Given the description of an element on the screen output the (x, y) to click on. 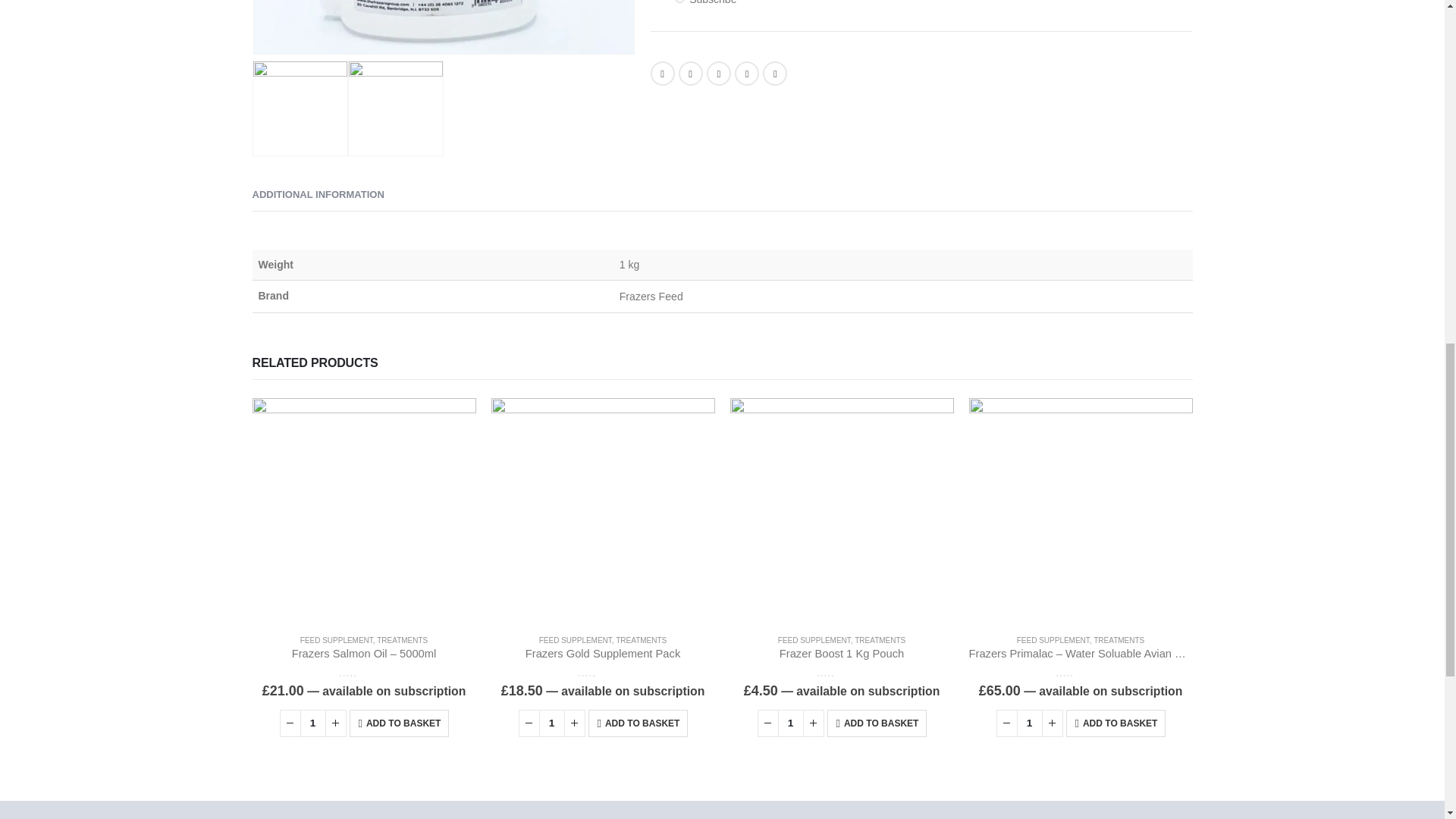
1 (551, 723)
Twitter (690, 73)
Twitter (690, 73)
1 (1029, 723)
LinkedIn (718, 73)
1 (790, 723)
Glycoboost-1.jpg (443, 27)
Facebook (662, 73)
Glyco-boost.png (395, 108)
Glycoboost-1.jpg (300, 108)
